Given the description of an element on the screen output the (x, y) to click on. 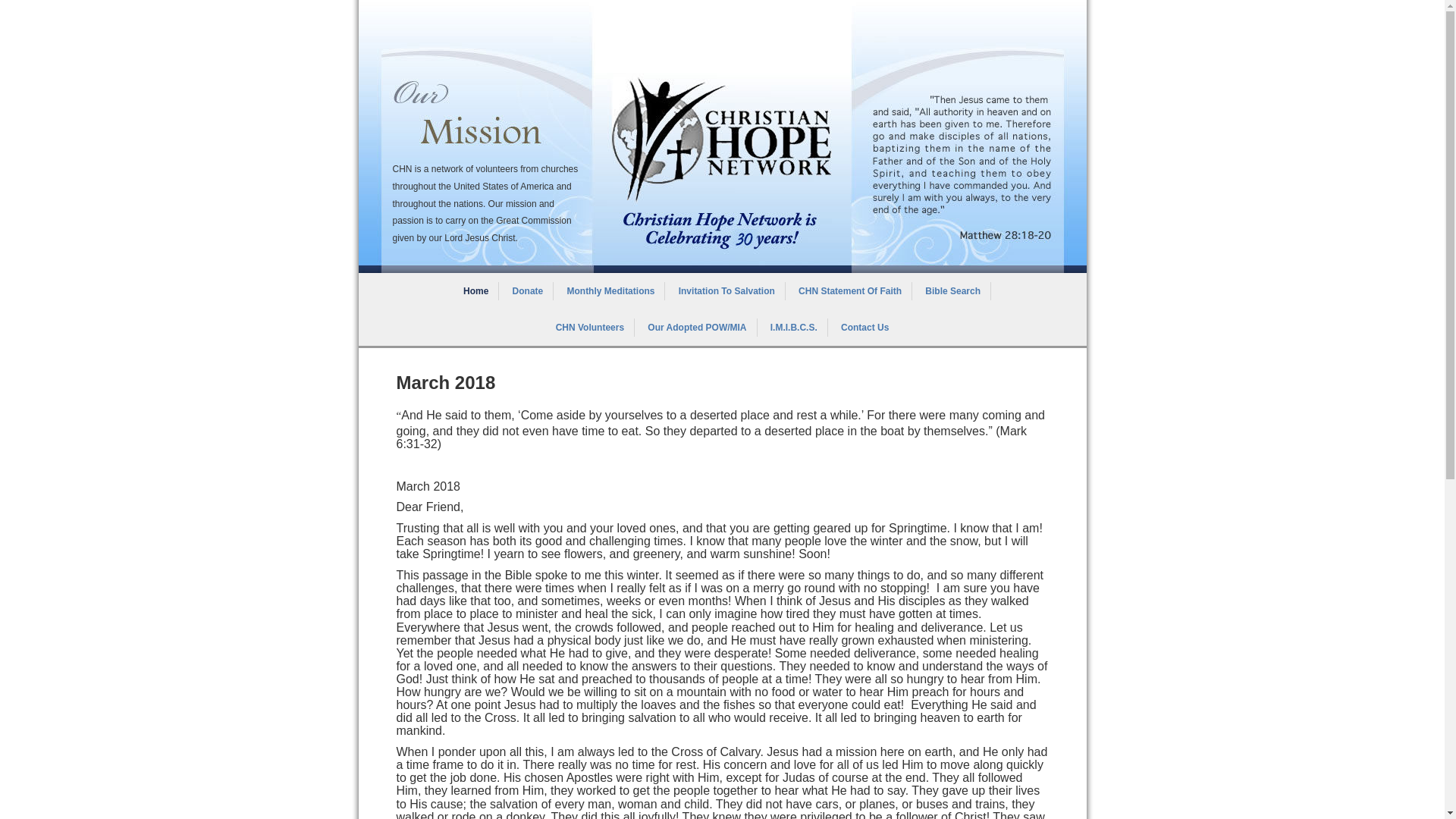
CHN Statement Of Faith Element type: text (850, 291)
Our Adopted POW/MIA Element type: text (696, 327)
Invitation To Salvation Element type: text (726, 291)
Monthly Meditations Element type: text (610, 291)
Donate Element type: text (528, 291)
Home Element type: text (475, 291)
Contact Us Element type: text (864, 327)
Bible Search Element type: text (953, 291)
CHN Volunteers Element type: text (590, 327)
I.M.I.B.C.S. Element type: text (794, 327)
